Given the description of an element on the screen output the (x, y) to click on. 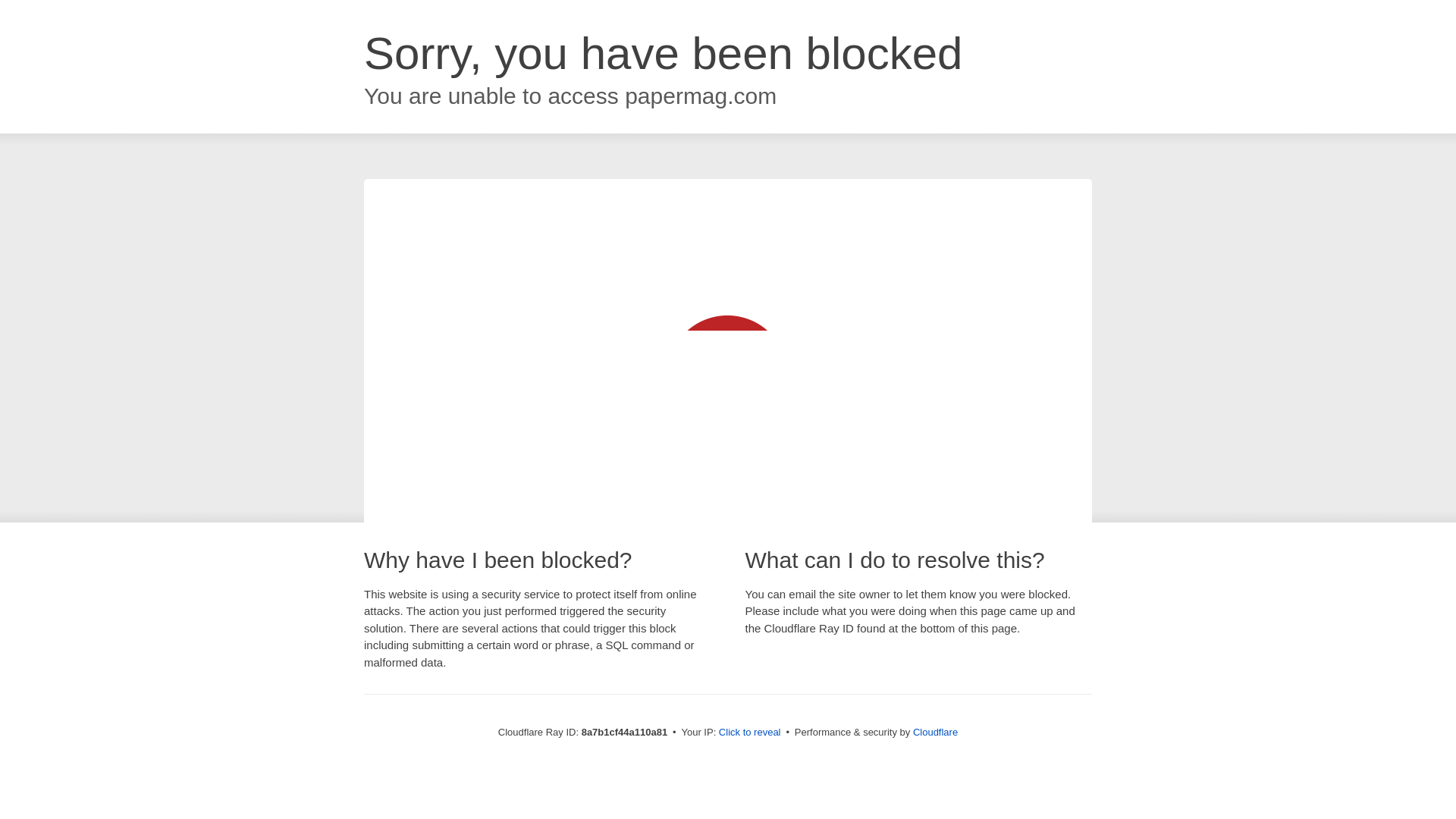
Click to reveal (749, 732)
Cloudflare (935, 731)
